Given the description of an element on the screen output the (x, y) to click on. 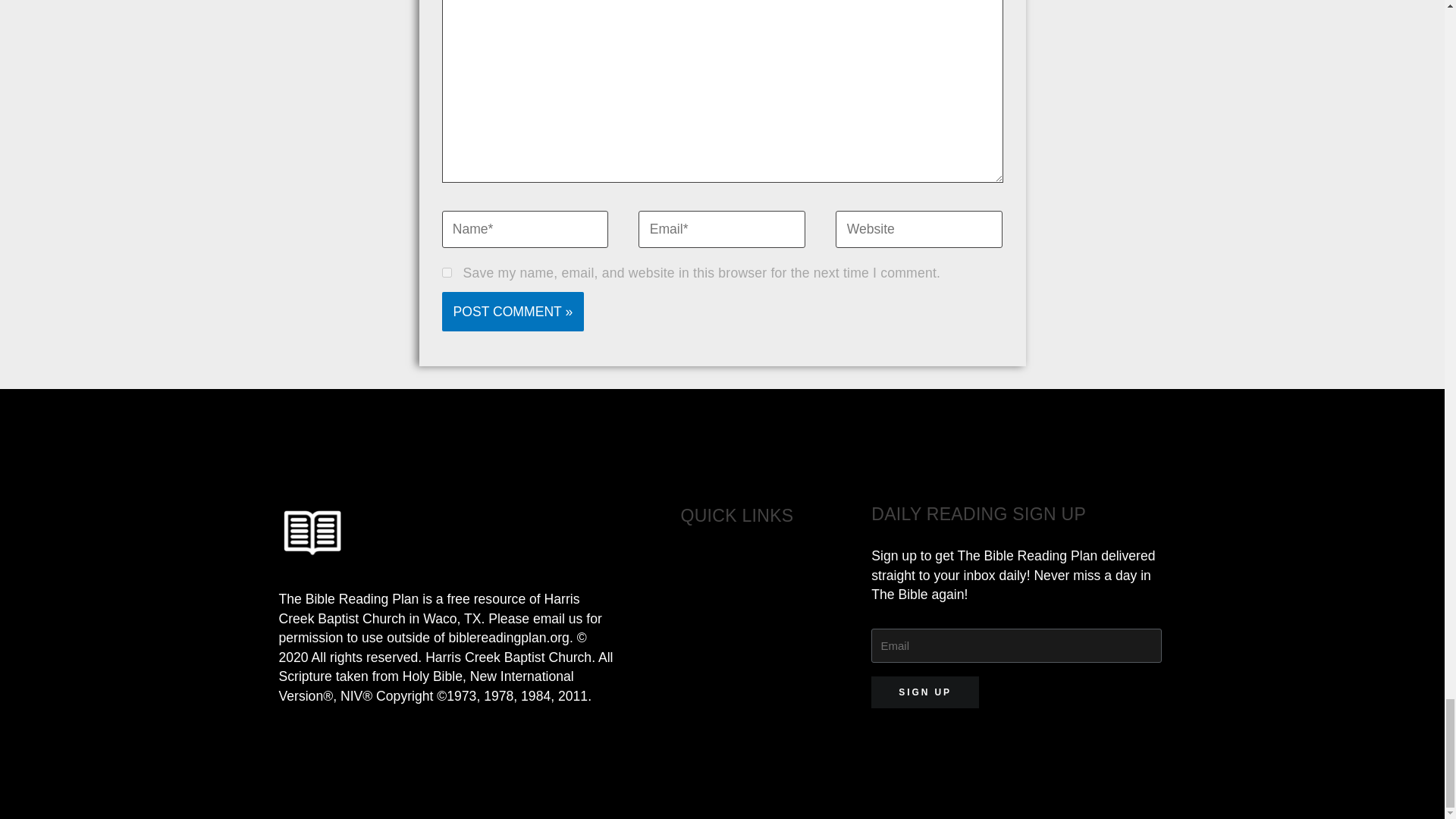
yes (446, 272)
biblereadingplan-brand-iconsmall (312, 534)
